Given the description of an element on the screen output the (x, y) to click on. 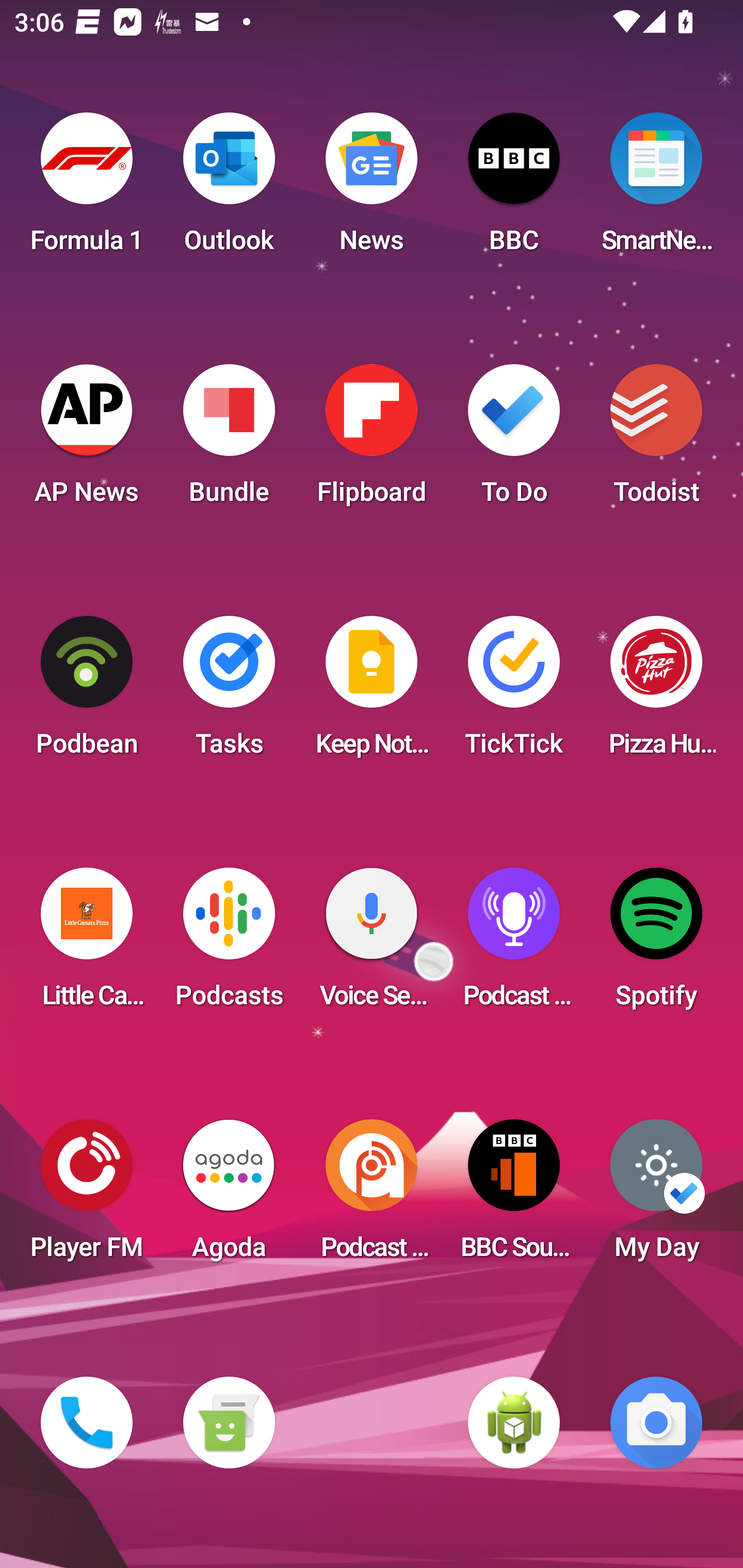
Formula 1 (86, 188)
Outlook (228, 188)
News (371, 188)
BBC (513, 188)
SmartNews (656, 188)
AP News (86, 440)
Bundle (228, 440)
Flipboard (371, 440)
To Do (513, 440)
Todoist (656, 440)
Podbean (86, 692)
Tasks (228, 692)
Keep Notes (371, 692)
TickTick (513, 692)
Pizza Hut HK & Macau (656, 692)
Little Caesars Pizza (86, 943)
Podcasts (228, 943)
Voice Search (371, 943)
Podcast Player (513, 943)
Spotify (656, 943)
Player FM (86, 1195)
Agoda (228, 1195)
Podcast Addict (371, 1195)
BBC Sounds (513, 1195)
My Day (656, 1195)
Phone (86, 1422)
Messaging (228, 1422)
WebView Browser Tester (513, 1422)
Camera (656, 1422)
